Given the description of an element on the screen output the (x, y) to click on. 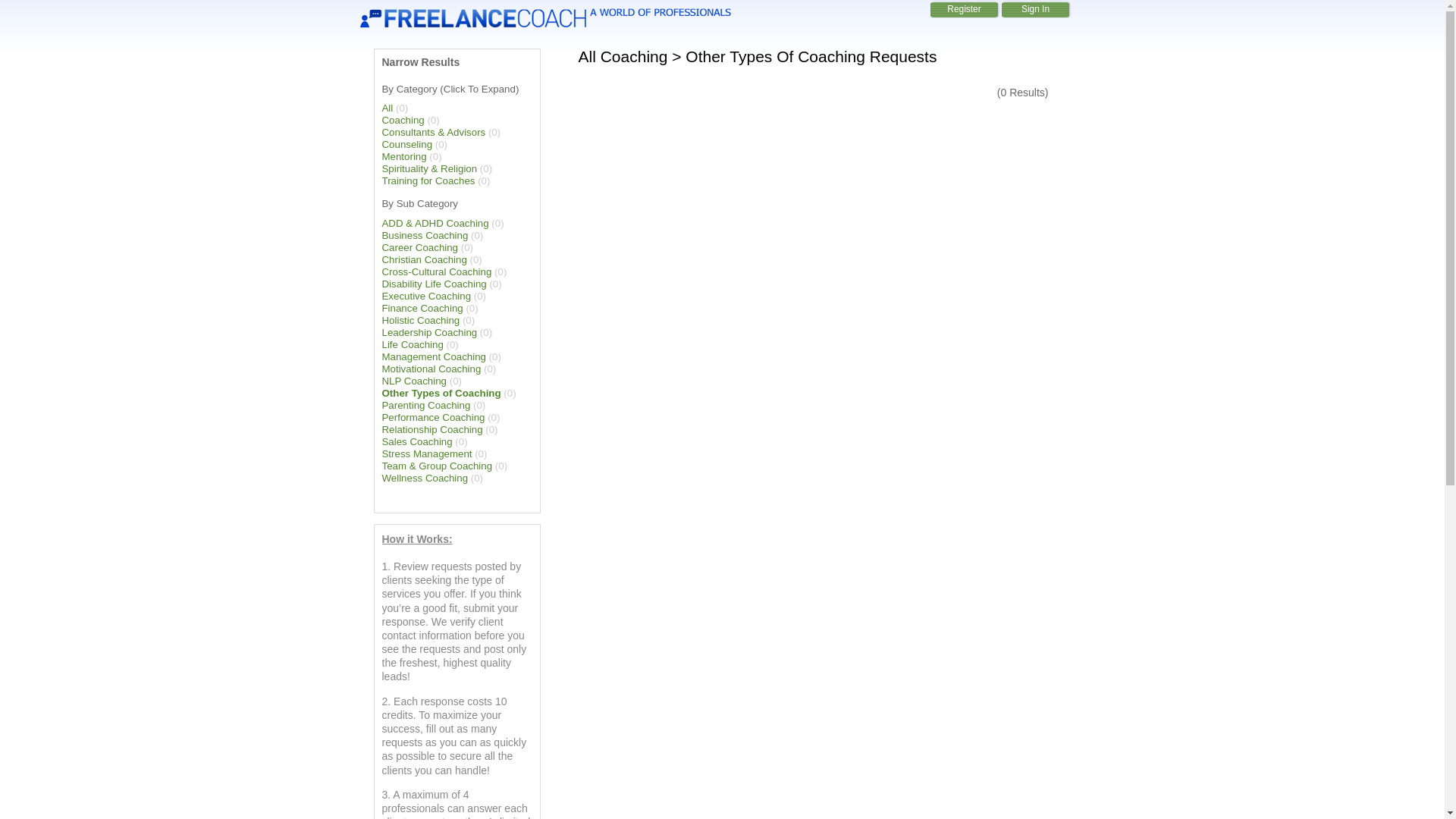
Mentoring (403, 156)
Register (963, 9)
Career Coaching (419, 247)
Wellness Coaching (424, 478)
Executive Coaching (426, 296)
Sales Coaching (416, 441)
Other Types of Coaching (440, 392)
Management Coaching (433, 356)
Stress Management (426, 453)
Finance Coaching (422, 307)
Life Coaching (412, 344)
Training for Coaches (428, 180)
Christian Coaching (424, 259)
Coaching (403, 120)
NLP Coaching (413, 380)
